Given the description of an element on the screen output the (x, y) to click on. 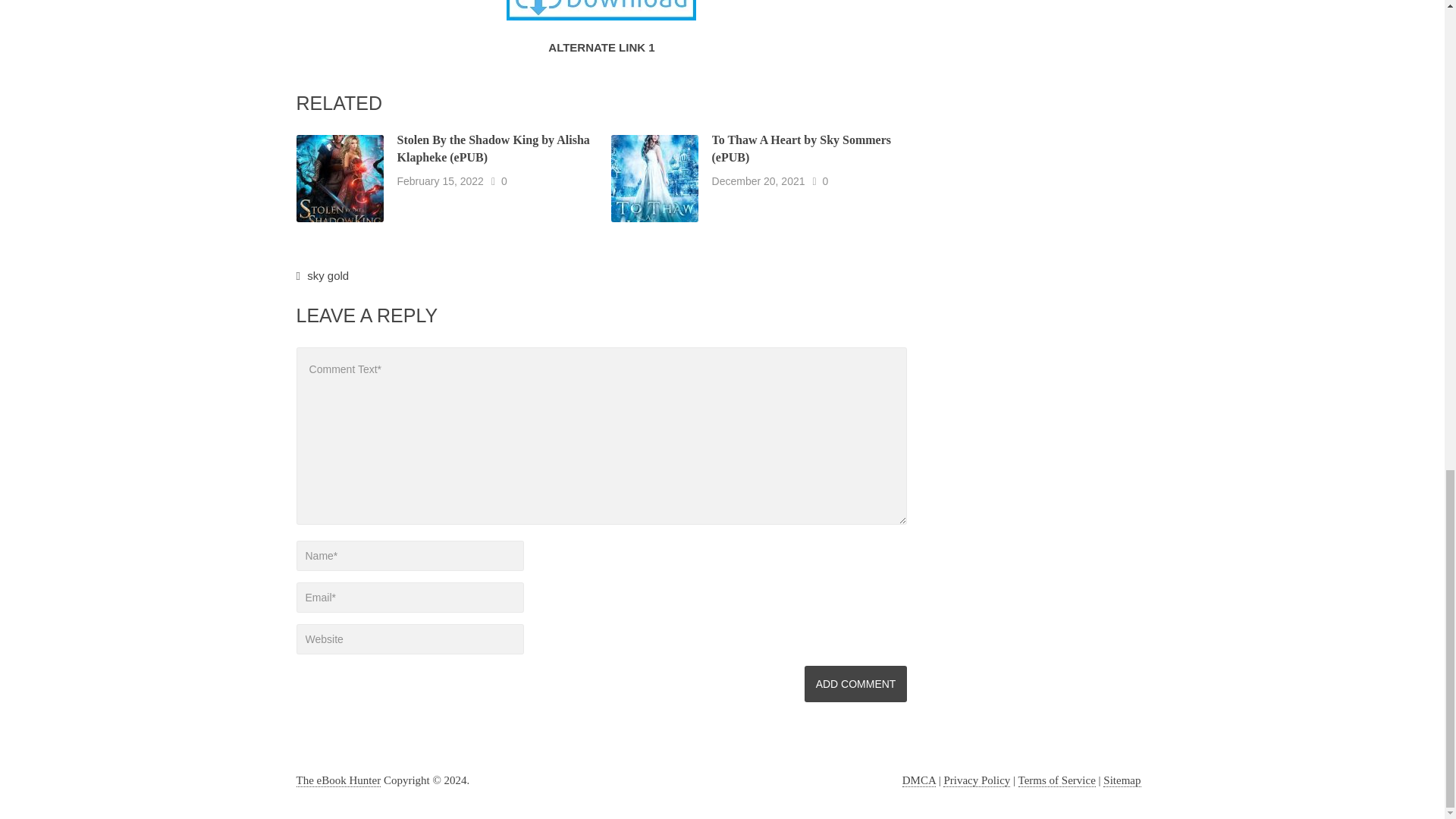
Add Comment (856, 683)
sky gold (328, 275)
Add Comment (856, 683)
ALTERNATE LINK 1 (600, 47)
0 (825, 181)
0 (504, 181)
